Given the description of an element on the screen output the (x, y) to click on. 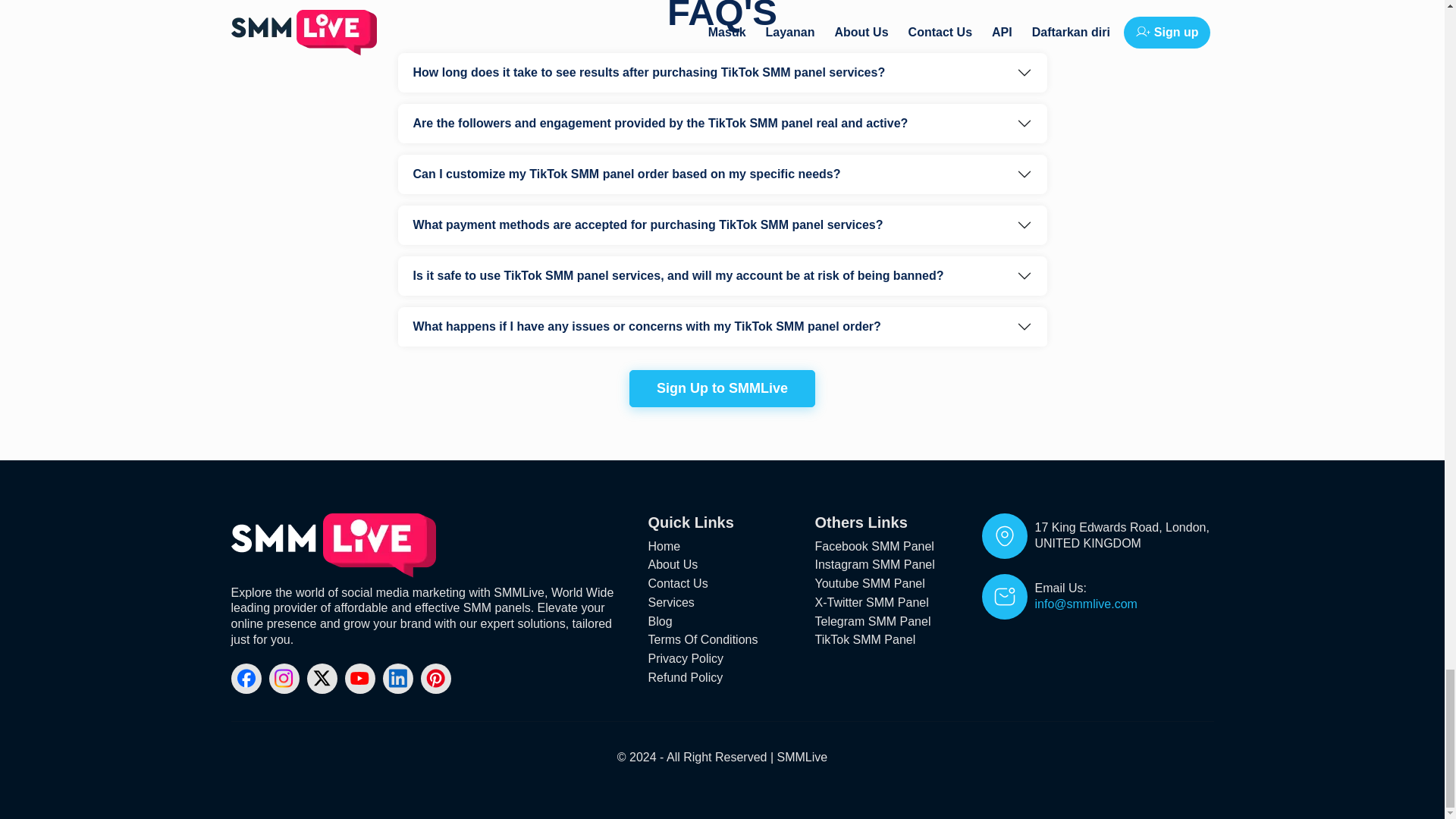
Sign Up to SMMLive (721, 387)
